Given the description of an element on the screen output the (x, y) to click on. 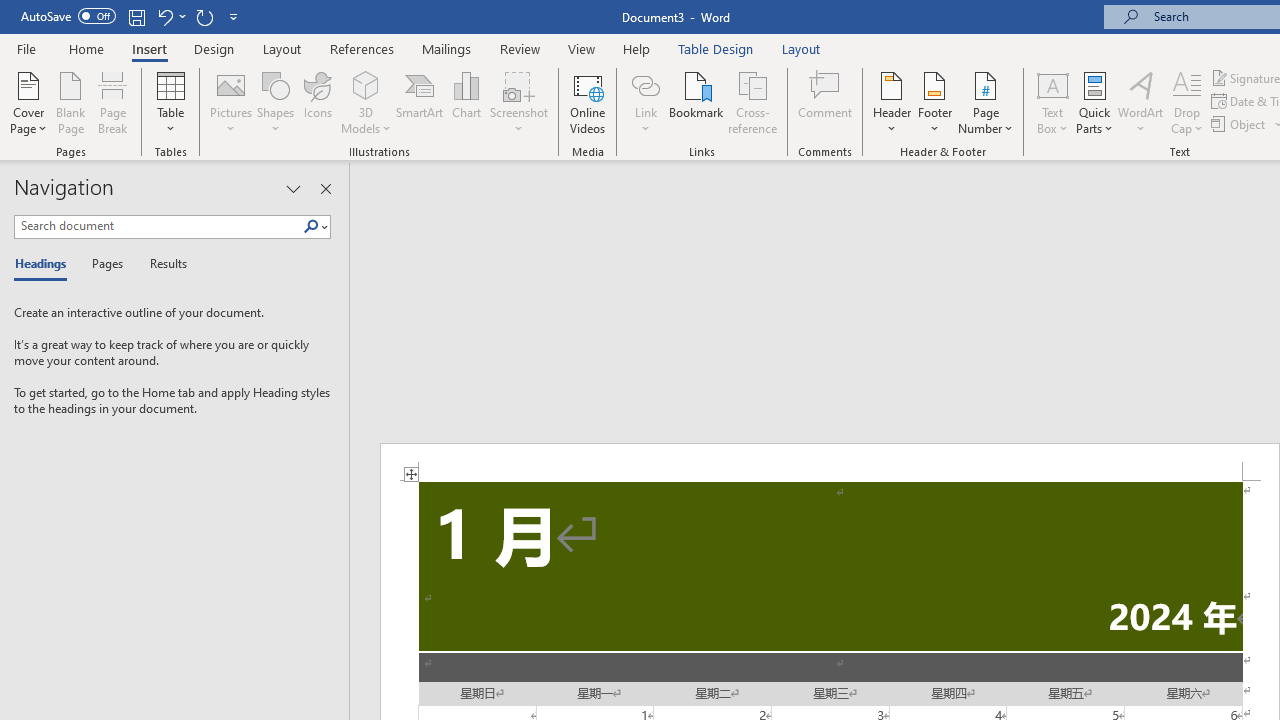
3D Models (366, 84)
3D Models (366, 102)
Cover Page (28, 102)
Header -Section 1- (830, 461)
Search (311, 227)
Shapes (275, 102)
Undo Increase Indent (170, 15)
Blank Page (70, 102)
Cross-reference... (752, 102)
Comment (825, 102)
View (582, 48)
Design (214, 48)
Headings (45, 264)
Help (637, 48)
